Given the description of an element on the screen output the (x, y) to click on. 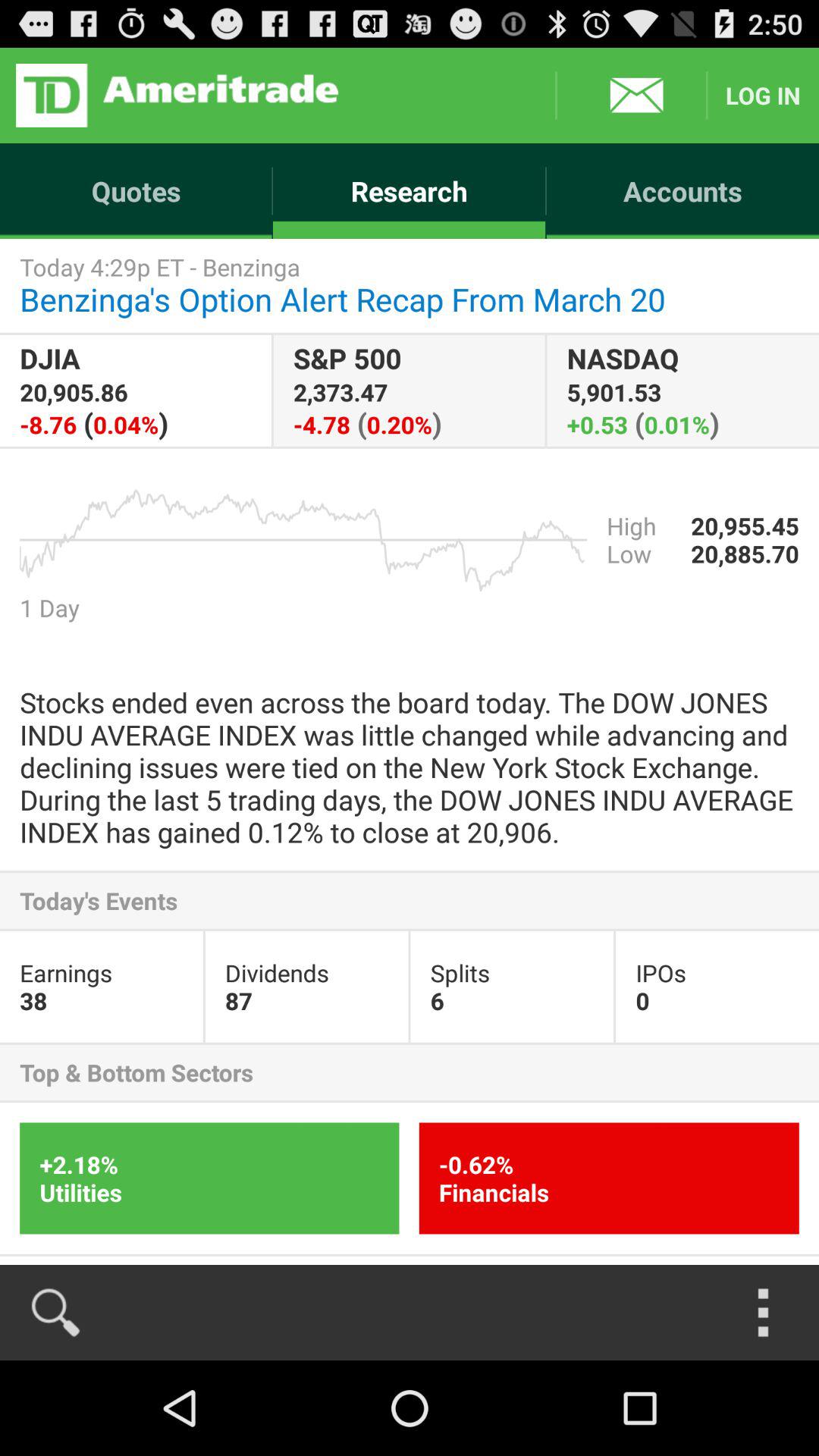
search (55, 1312)
